Given the description of an element on the screen output the (x, y) to click on. 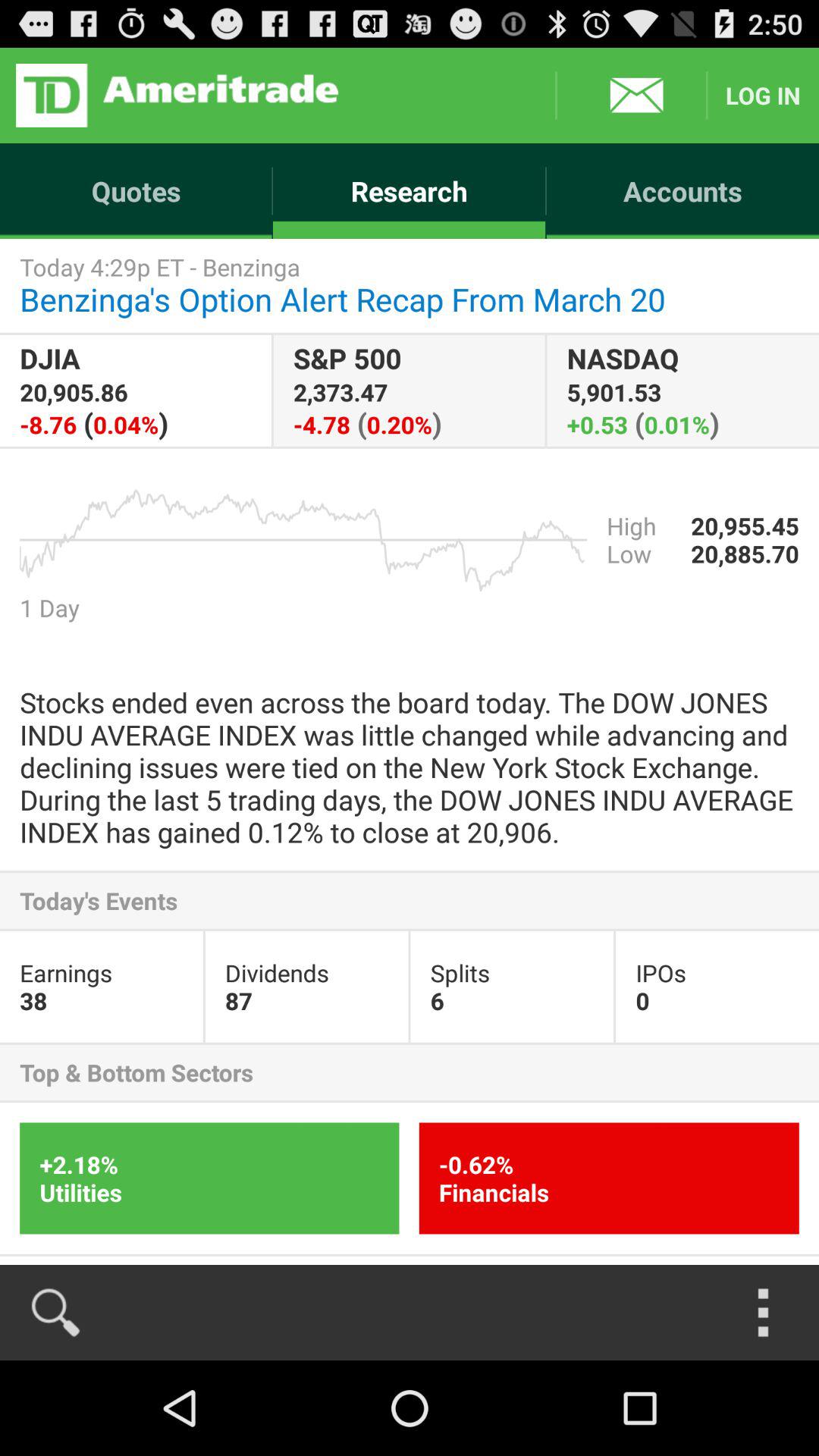
search (55, 1312)
